Given the description of an element on the screen output the (x, y) to click on. 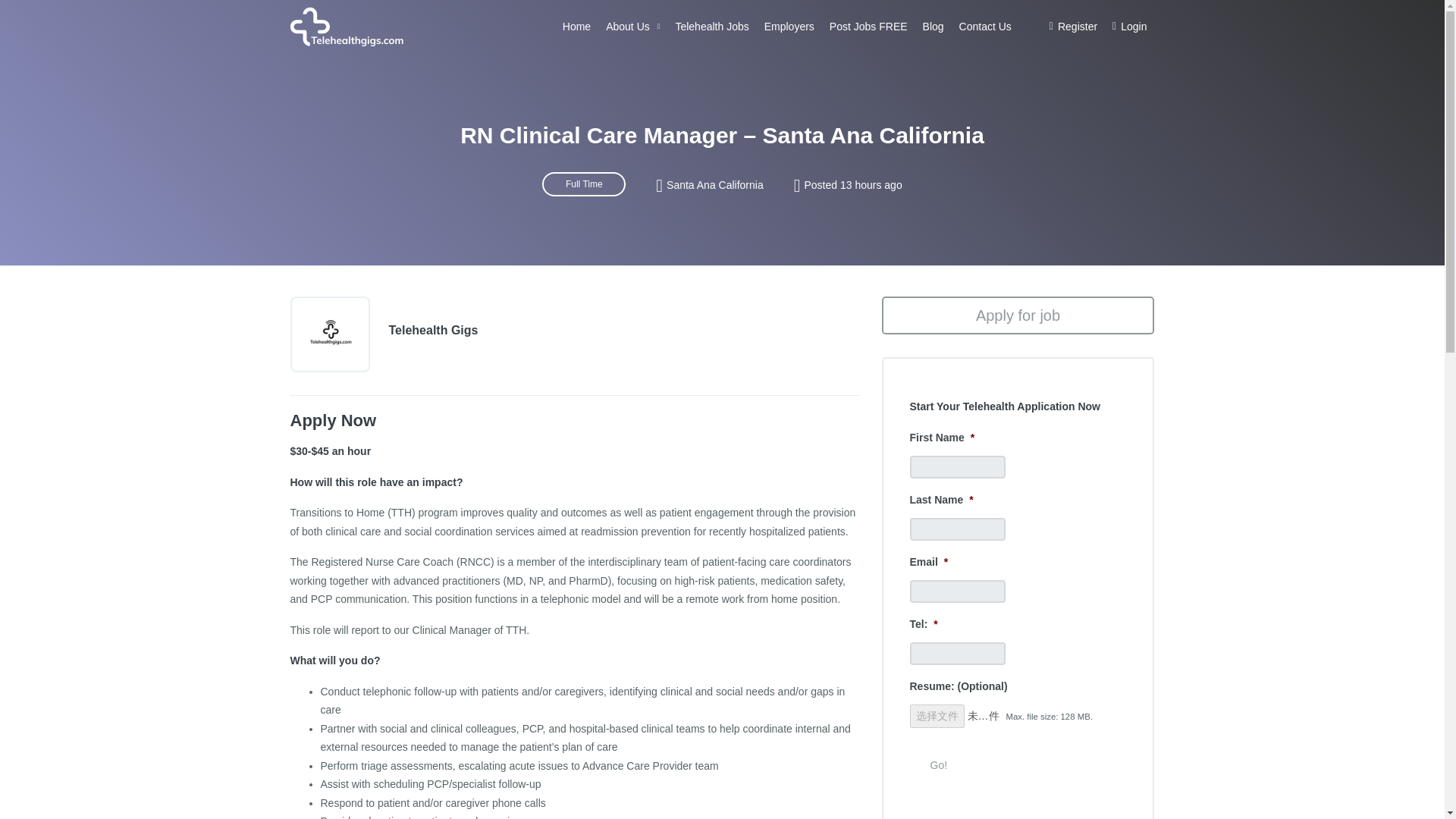
Post Jobs FREE (868, 26)
Santa Ana California (714, 184)
Employers (789, 26)
Apply for job (1017, 315)
Home (576, 26)
Login (1129, 26)
Go! (939, 765)
Apply Now (332, 420)
Blog (933, 26)
Contact Us (985, 26)
Telehealth Jobs (710, 26)
Go! (939, 765)
About Us (632, 26)
Register (1073, 26)
